Given the description of an element on the screen output the (x, y) to click on. 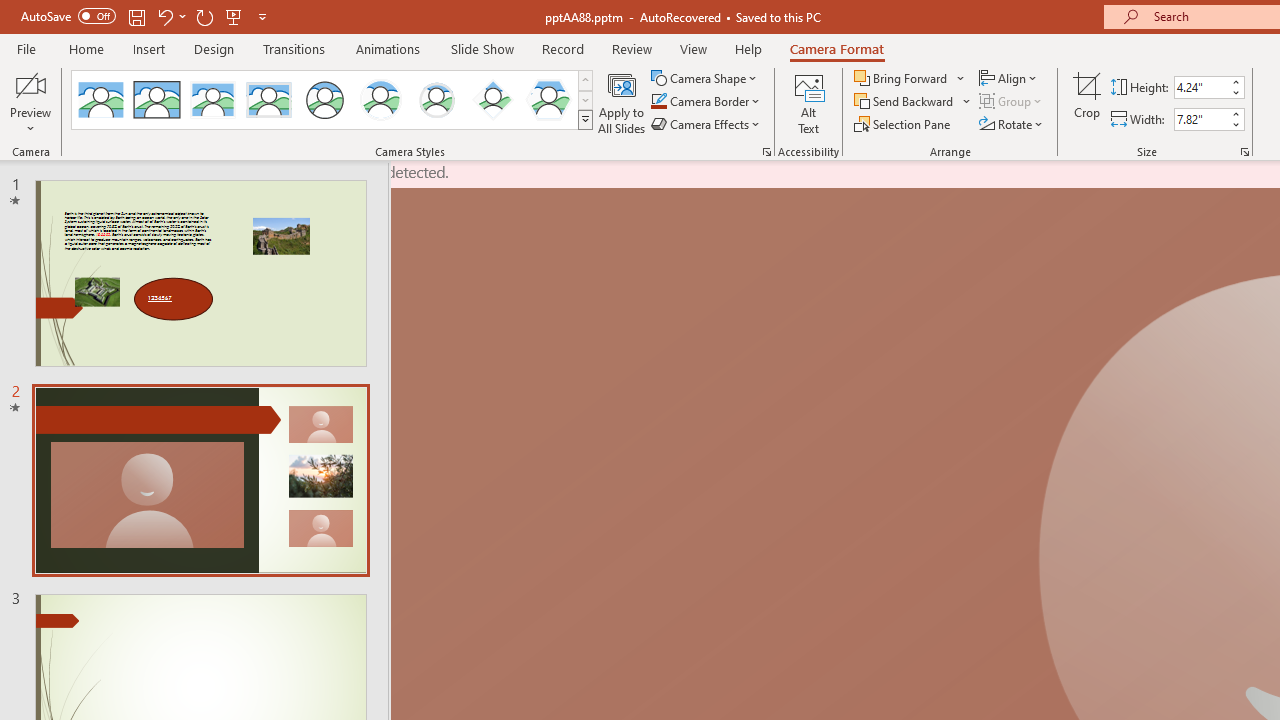
Camera Border (706, 101)
Camera Format (836, 48)
Send Backward (905, 101)
Size and Position... (1244, 151)
Crop (1087, 102)
Bring Forward (902, 78)
Send Backward (913, 101)
